Given the description of an element on the screen output the (x, y) to click on. 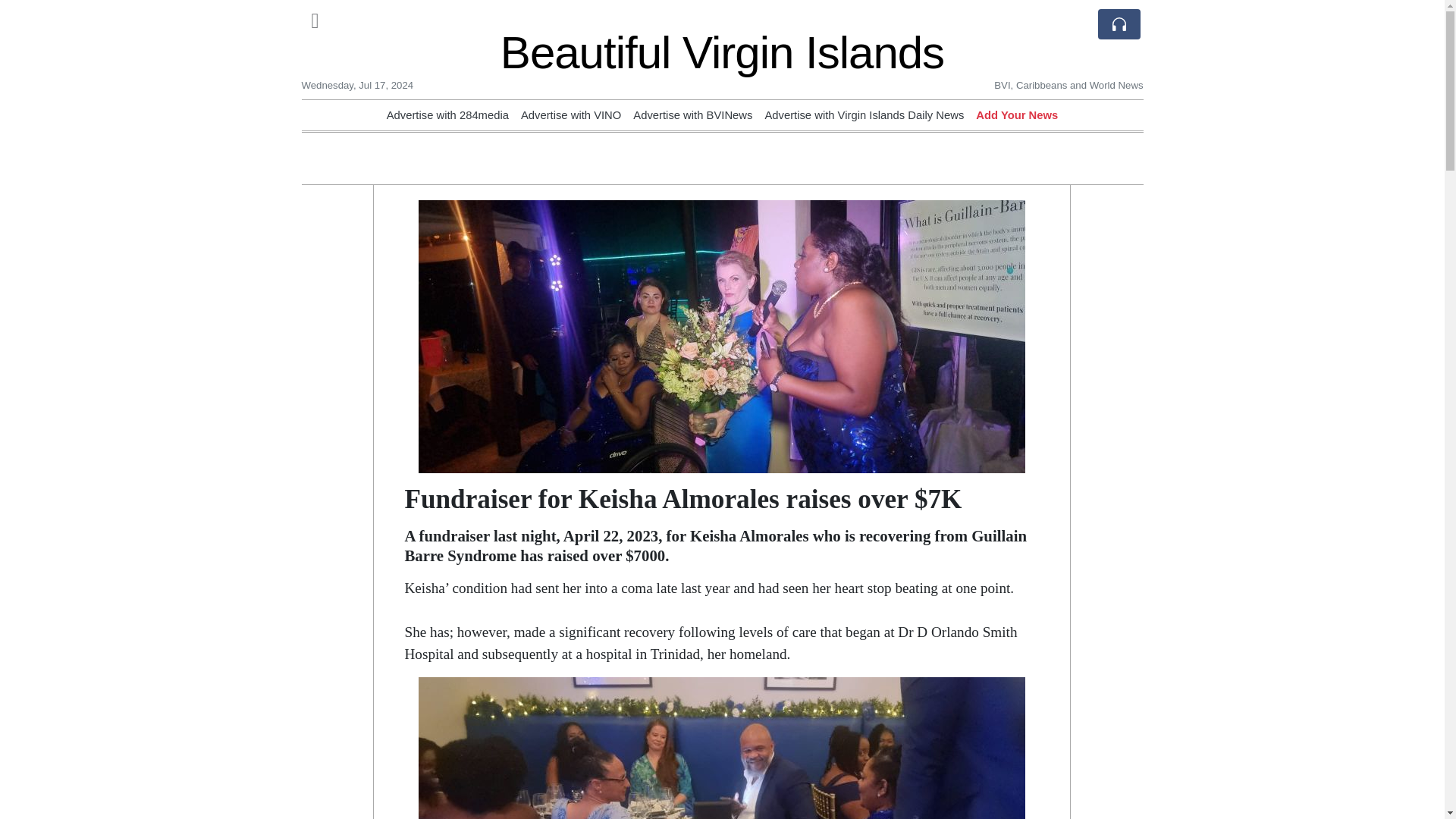
Beautiful Virgin Islands (721, 52)
Advertise with BVINews (692, 114)
Add Your News (1016, 114)
Advertise with VINO (571, 114)
Advertise with Virgin Islands Daily News (863, 114)
Advertise with 284media (447, 114)
